Given the description of an element on the screen output the (x, y) to click on. 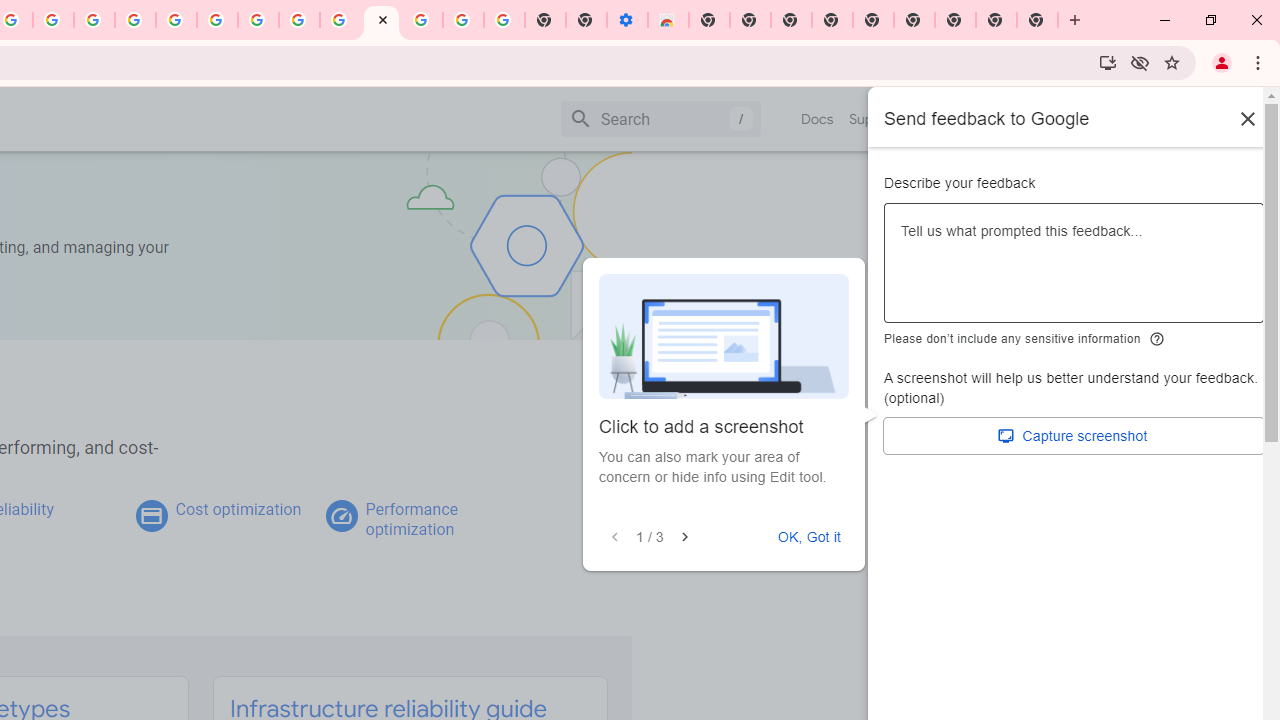
Cost optimization (238, 509)
Previous (615, 537)
Previous (614, 537)
New Tab (708, 20)
Install Google Cloud (1107, 62)
New Tab (1037, 20)
Settings - Accessibility (626, 20)
Performance optimization (411, 519)
Create your Google Account (53, 20)
Sign in - Google Accounts (421, 20)
